Given the description of an element on the screen output the (x, y) to click on. 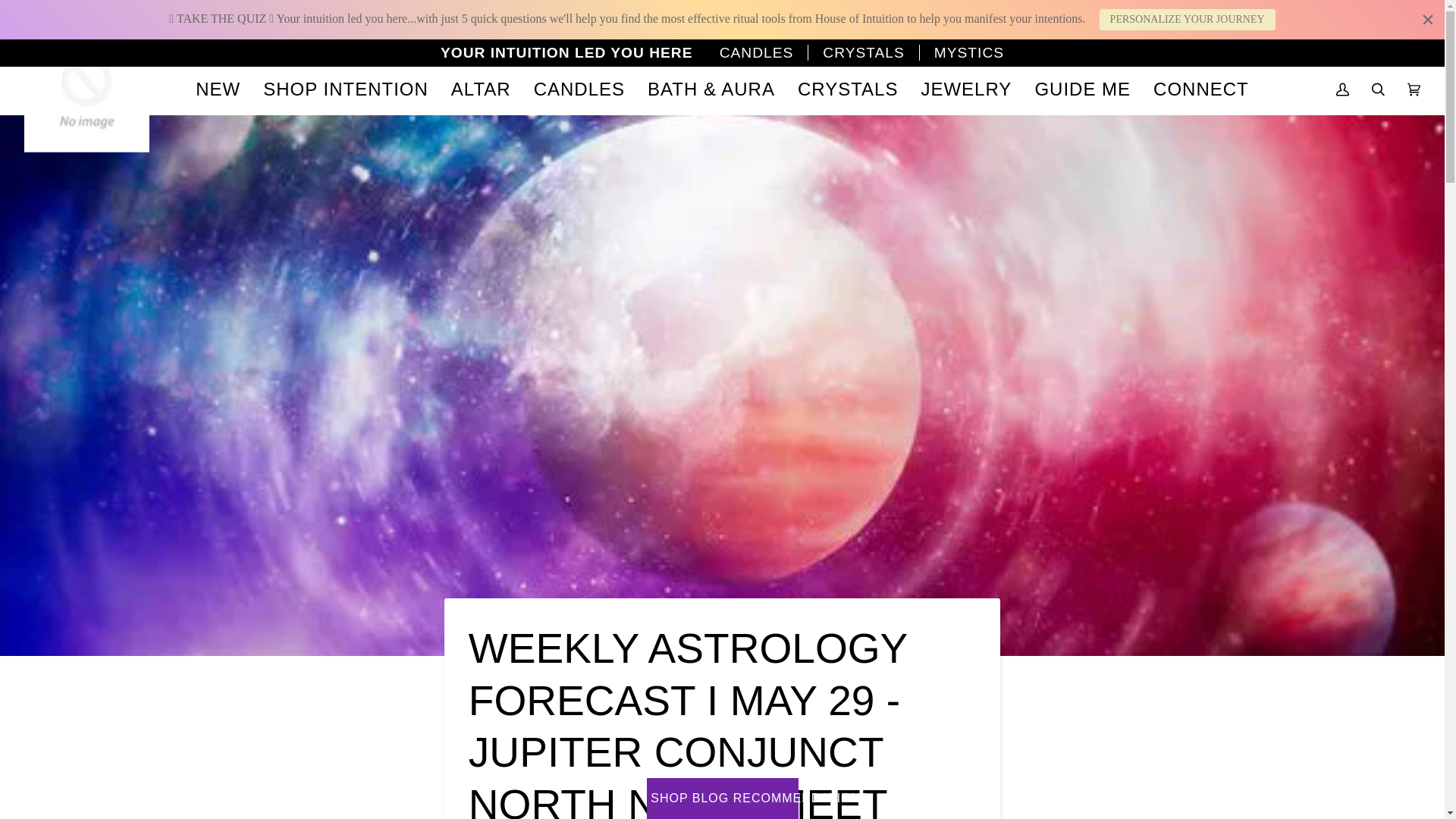
PERSONALIZE YOUR JOURNEY (1187, 19)
ALTAR (480, 89)
SHOP INTENTION (345, 89)
NEW (217, 89)
